Given the description of an element on the screen output the (x, y) to click on. 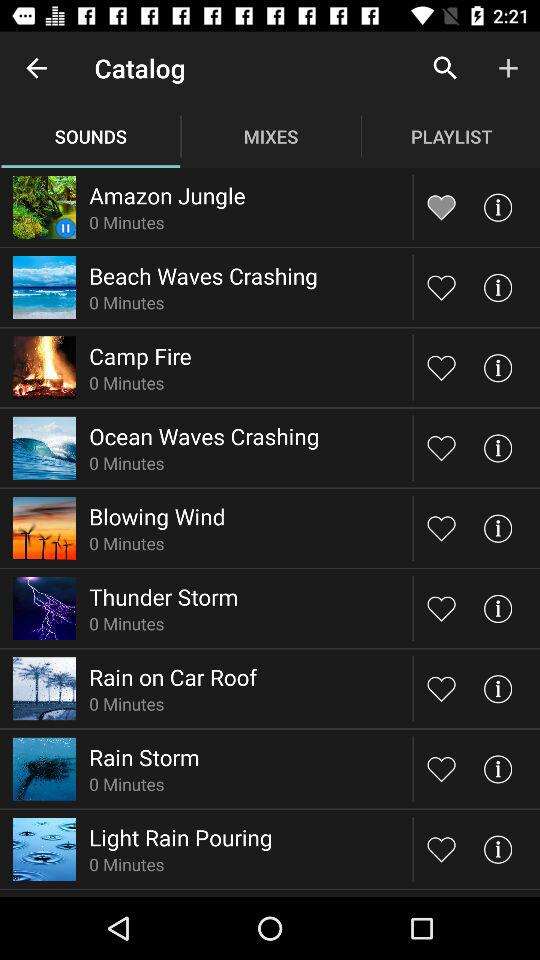
favorite selected options (441, 768)
